Given the description of an element on the screen output the (x, y) to click on. 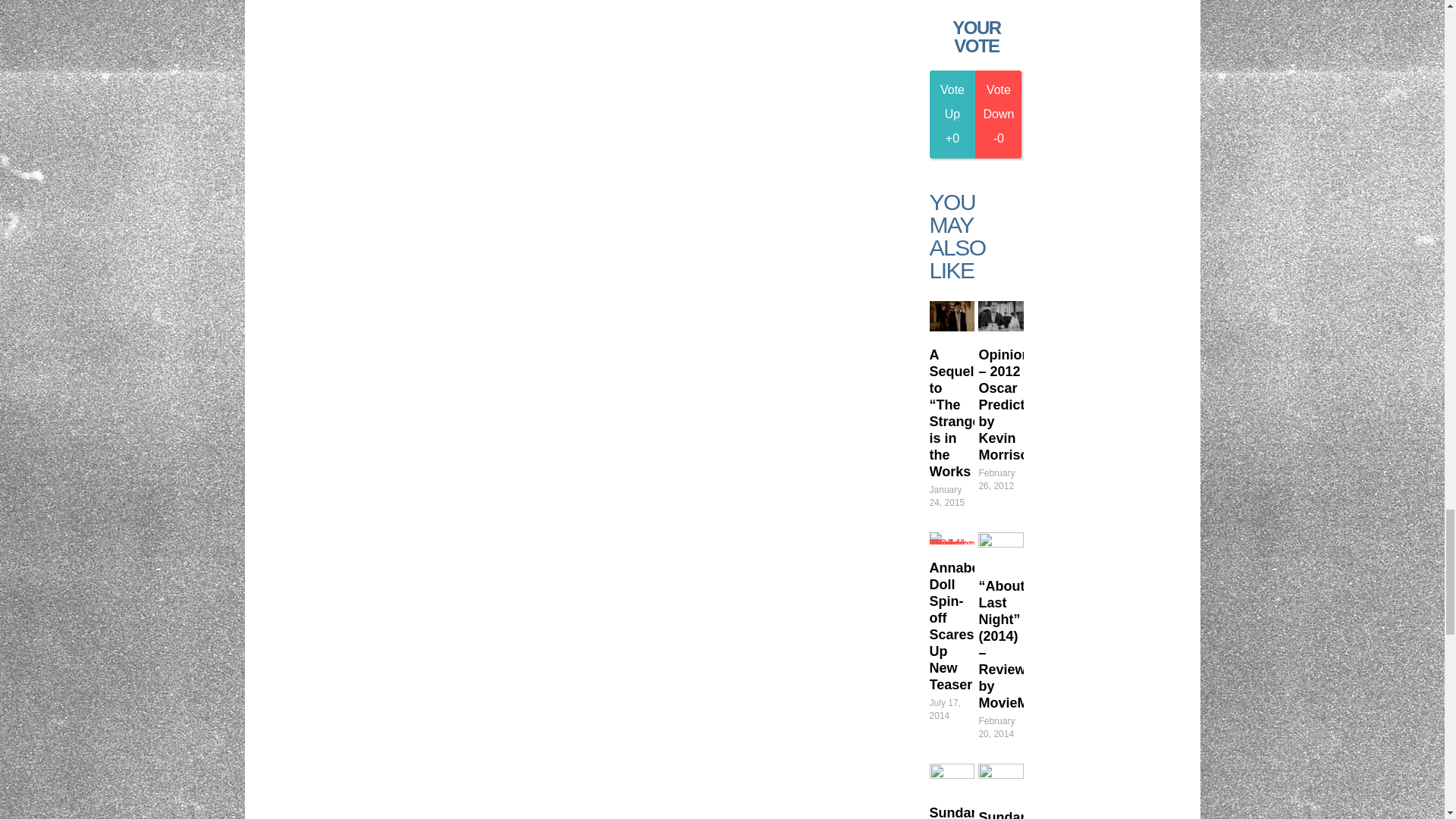
Annabelle Doll Spin-off Scares Up New Teaser (952, 538)
Annabelle Doll Spin-off Scares Up New Teaser (962, 626)
